Given the description of an element on the screen output the (x, y) to click on. 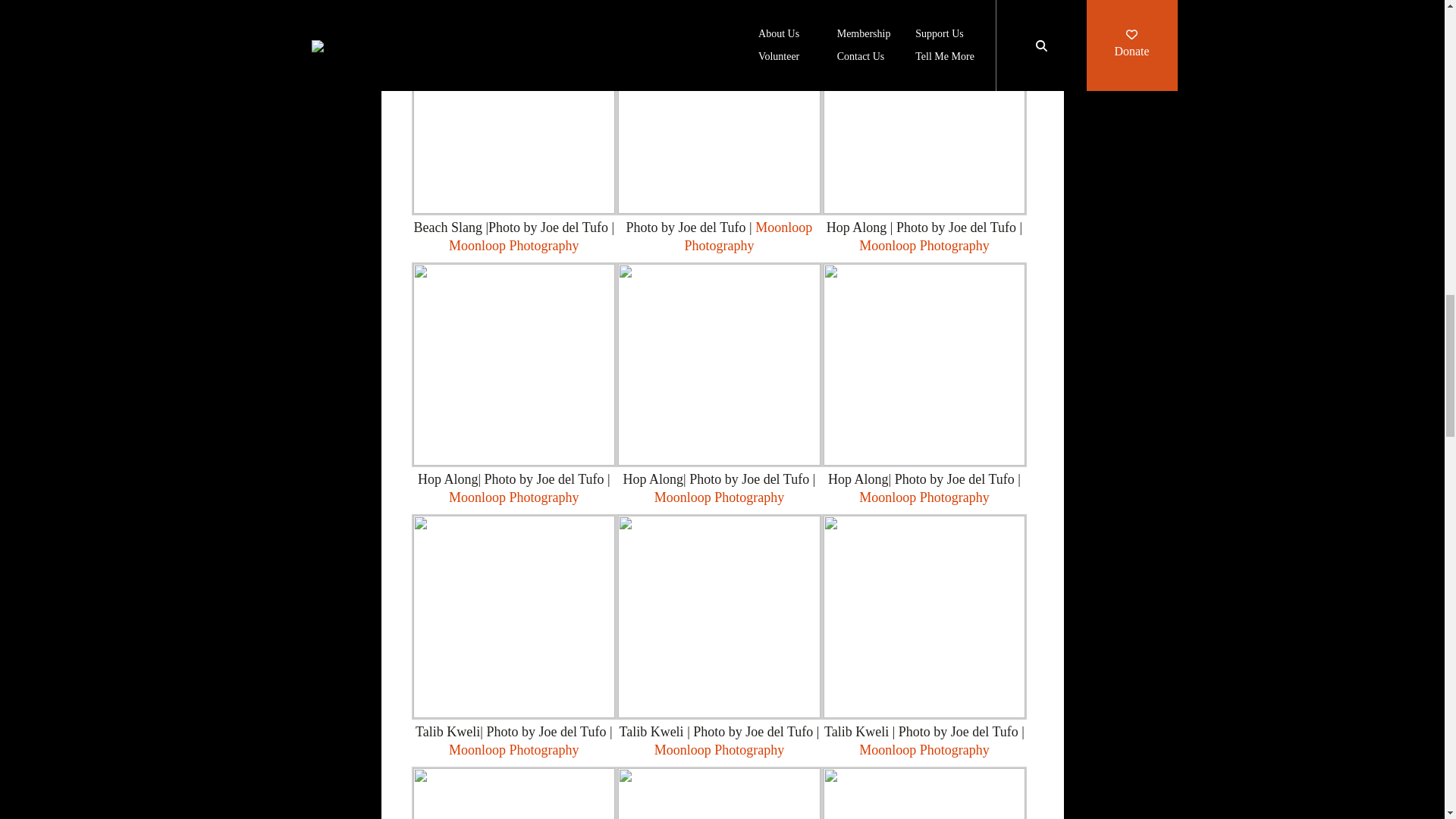
Moonloop Photography (924, 245)
Moonloop Photography (748, 236)
Moonloop Photography (513, 245)
Moonloop Photography (718, 497)
Moonloop Photography (513, 497)
